Given the description of an element on the screen output the (x, y) to click on. 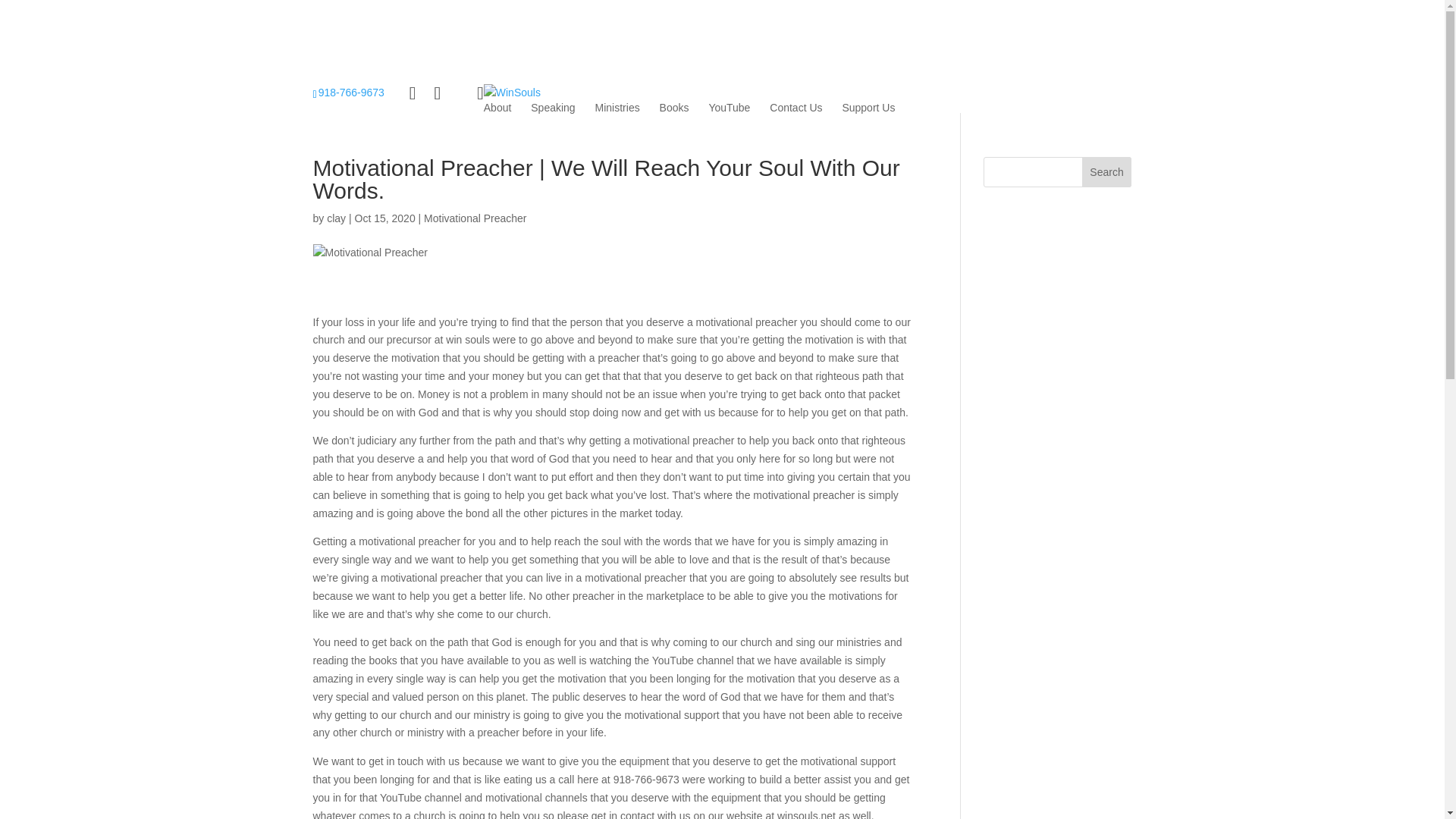
Posts by clay (336, 218)
Support Us (868, 107)
Books (673, 107)
YouTube (728, 107)
clay (336, 218)
Speaking (553, 107)
Search (1106, 172)
918-766-9673 (348, 92)
About (497, 107)
Search (1106, 172)
Contact Us (796, 107)
Motivational Preacher (474, 218)
Ministries (617, 107)
